Given the description of an element on the screen output the (x, y) to click on. 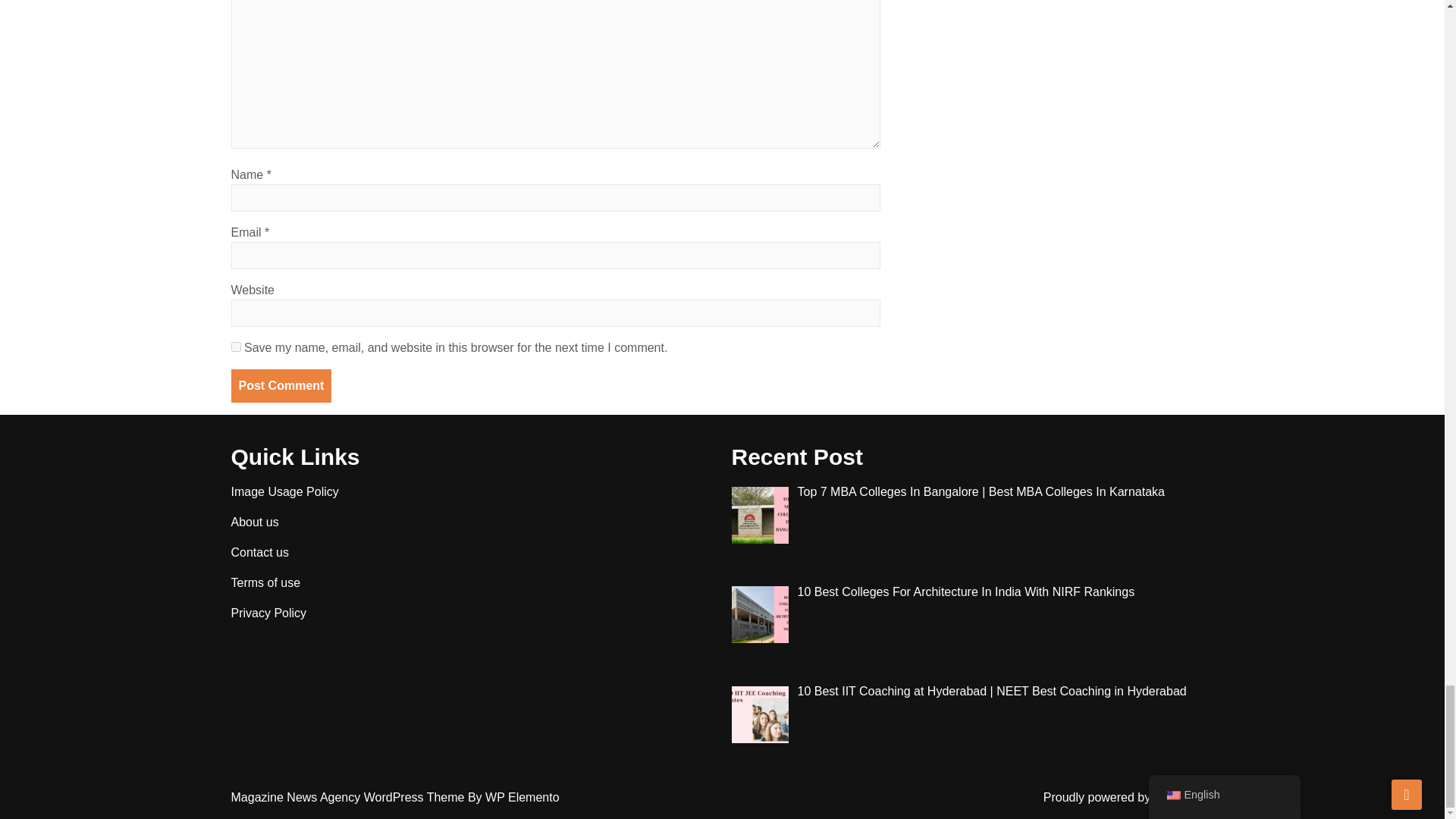
yes (235, 347)
Post Comment (280, 385)
Post Comment (280, 385)
